Given the description of an element on the screen output the (x, y) to click on. 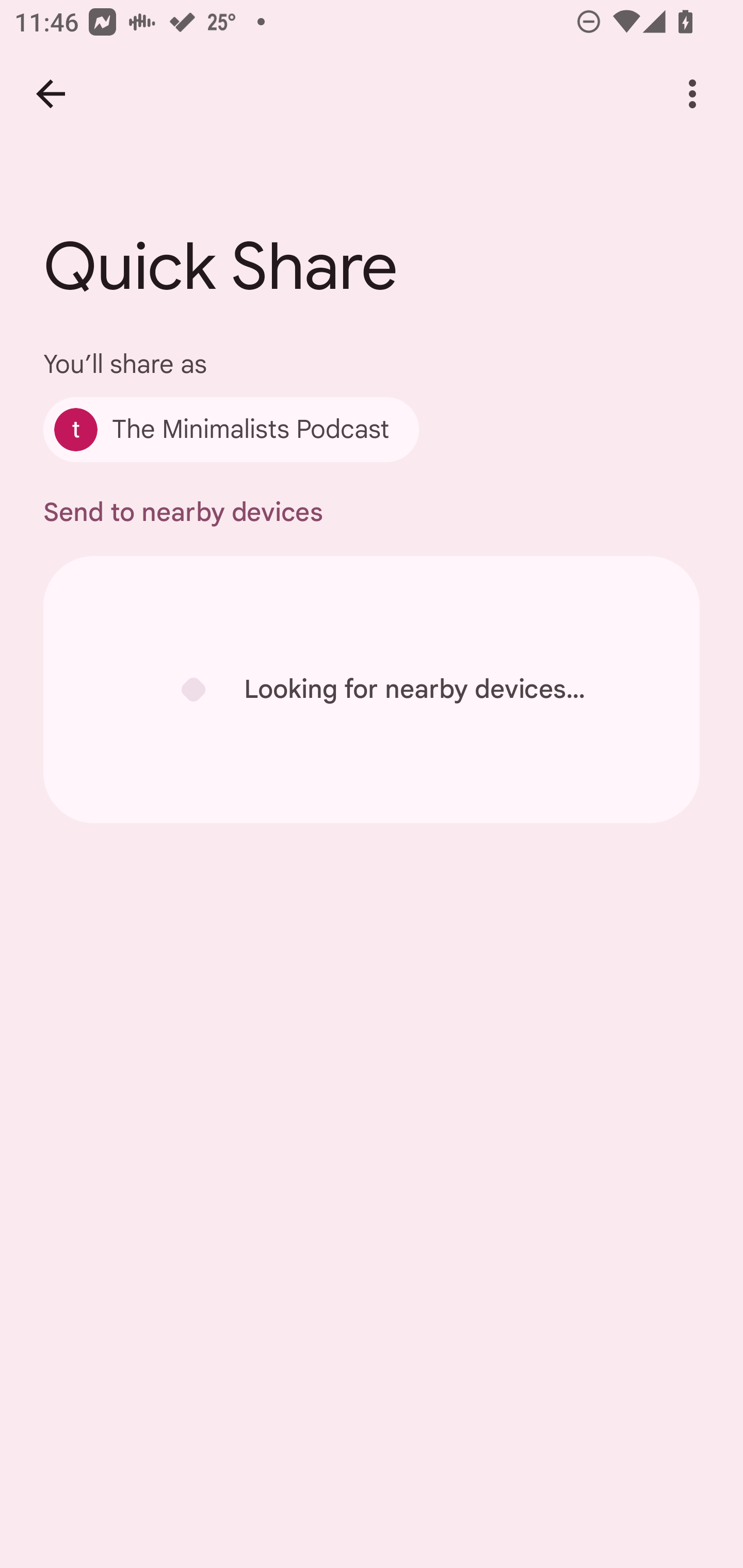
Back (50, 93)
More (692, 93)
The Minimalists Podcast (231, 429)
